Given the description of an element on the screen output the (x, y) to click on. 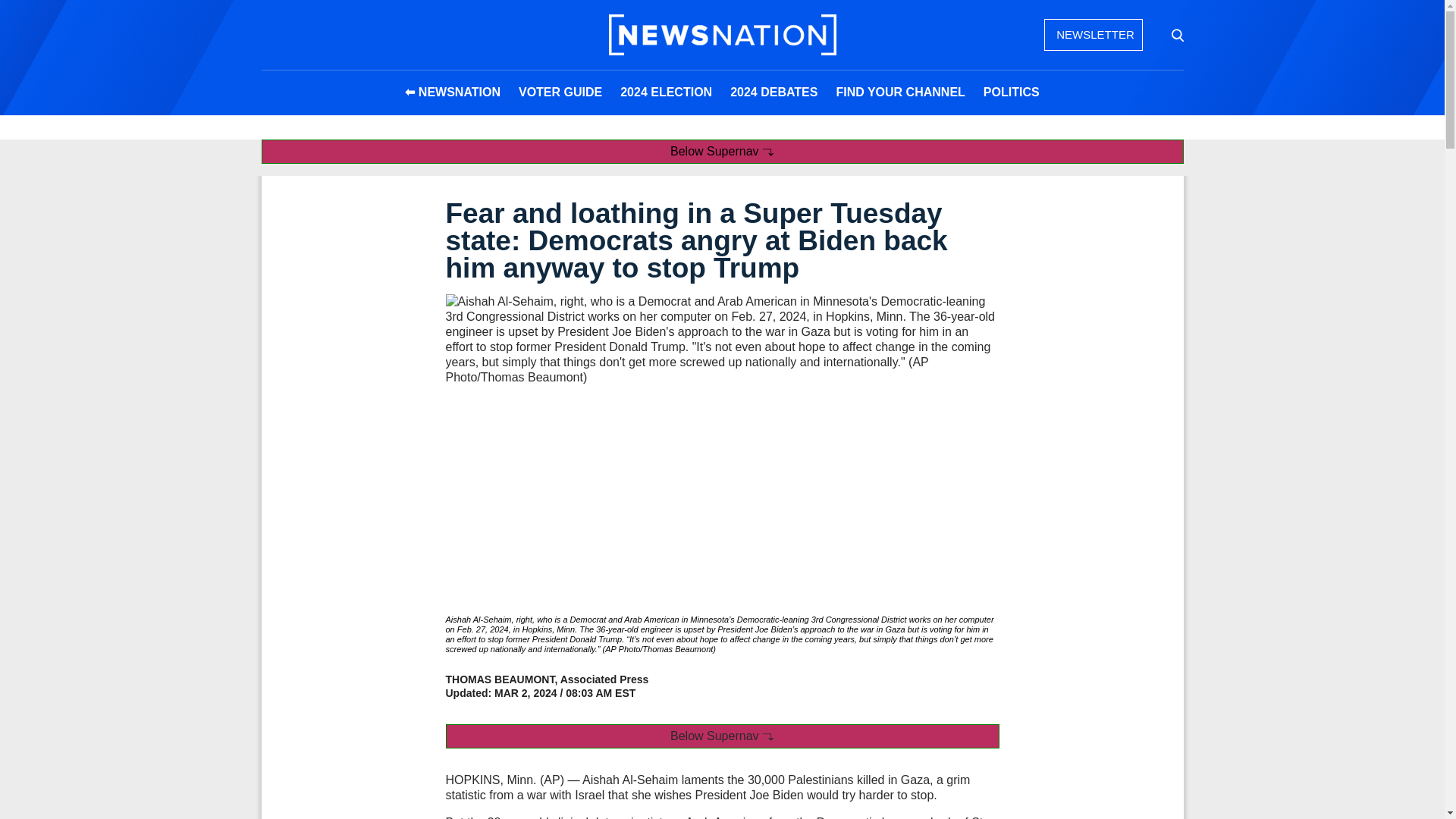
POLITICS (1011, 92)
2024 ELECTION (665, 92)
Go (1176, 34)
VOTER GUIDE (560, 92)
FIND YOUR CHANNEL (900, 92)
NEWSLETTER (1092, 34)
2024 DEBATES (773, 92)
